Given the description of an element on the screen output the (x, y) to click on. 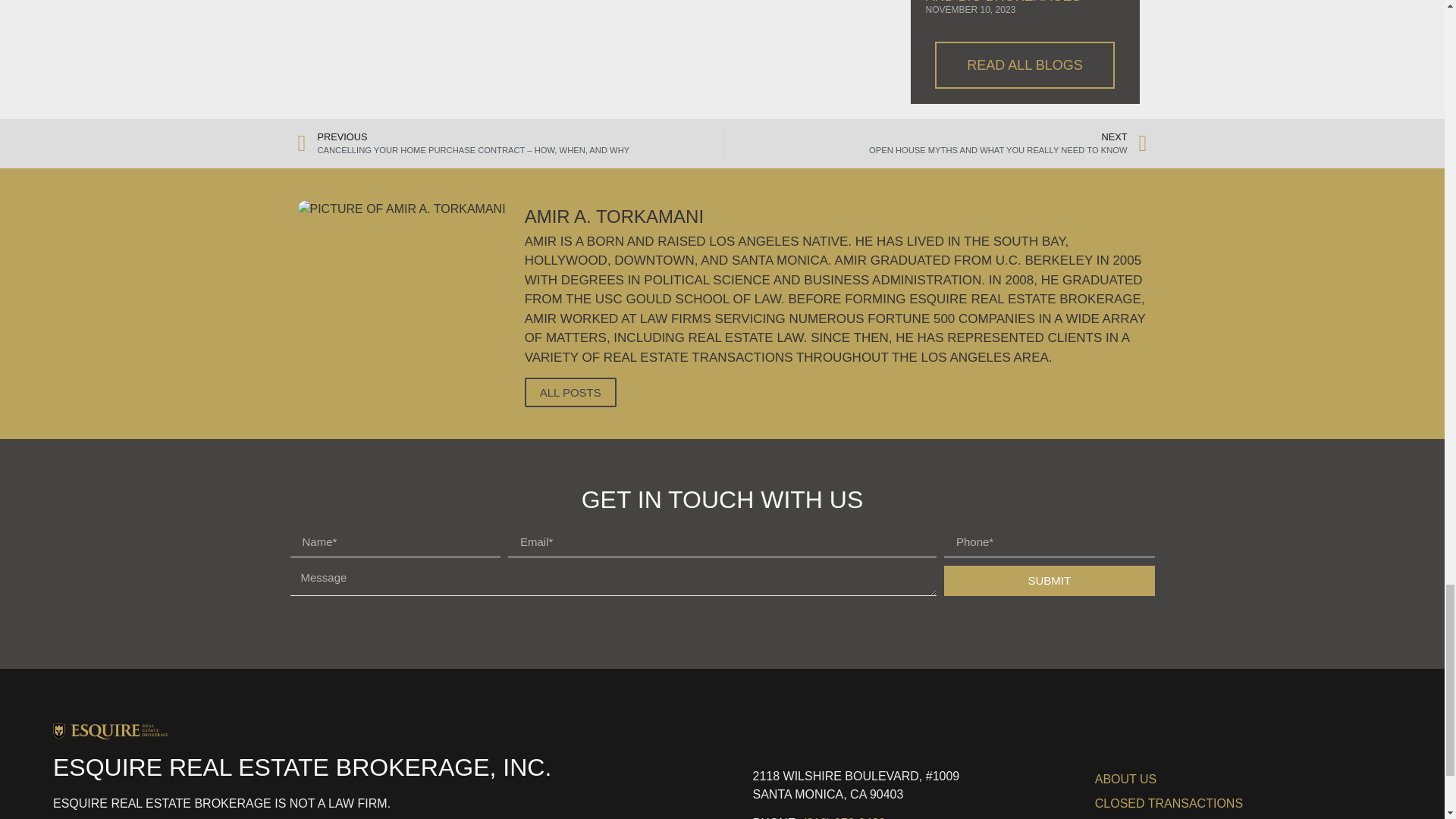
ALL POSTS (569, 392)
READ ALL BLOGS (1023, 64)
SUBMIT (934, 143)
